Given the description of an element on the screen output the (x, y) to click on. 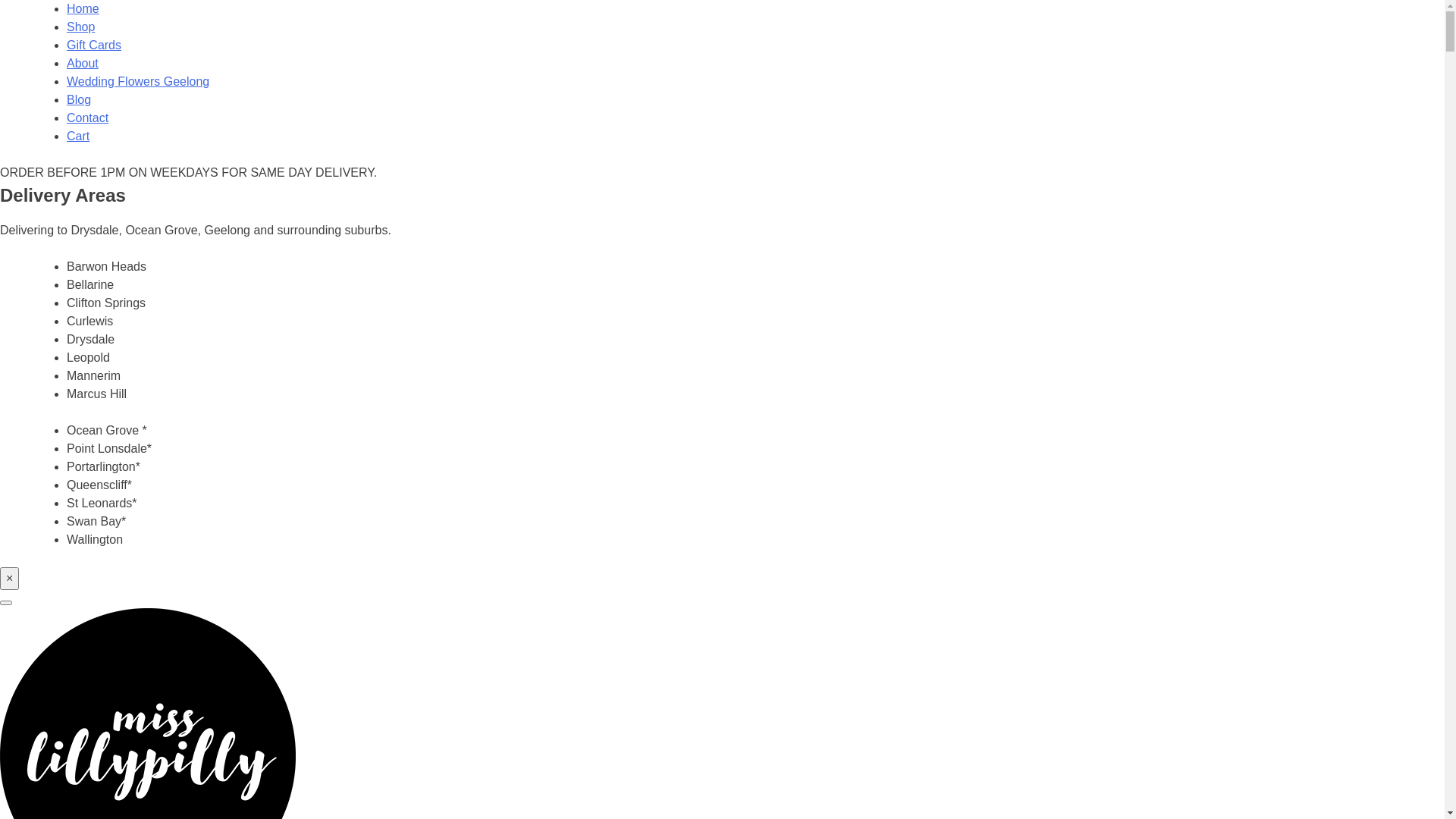
Home Element type: text (82, 8)
Contact Element type: text (87, 117)
Shop Element type: text (80, 26)
Blog Element type: text (78, 99)
Wedding Flowers Geelong Element type: text (137, 81)
Cart Element type: text (77, 135)
Gift Cards Element type: text (93, 44)
VIEW DELIVERY AREAS. Element type: text (450, 172)
About Element type: text (82, 62)
